Given the description of an element on the screen output the (x, y) to click on. 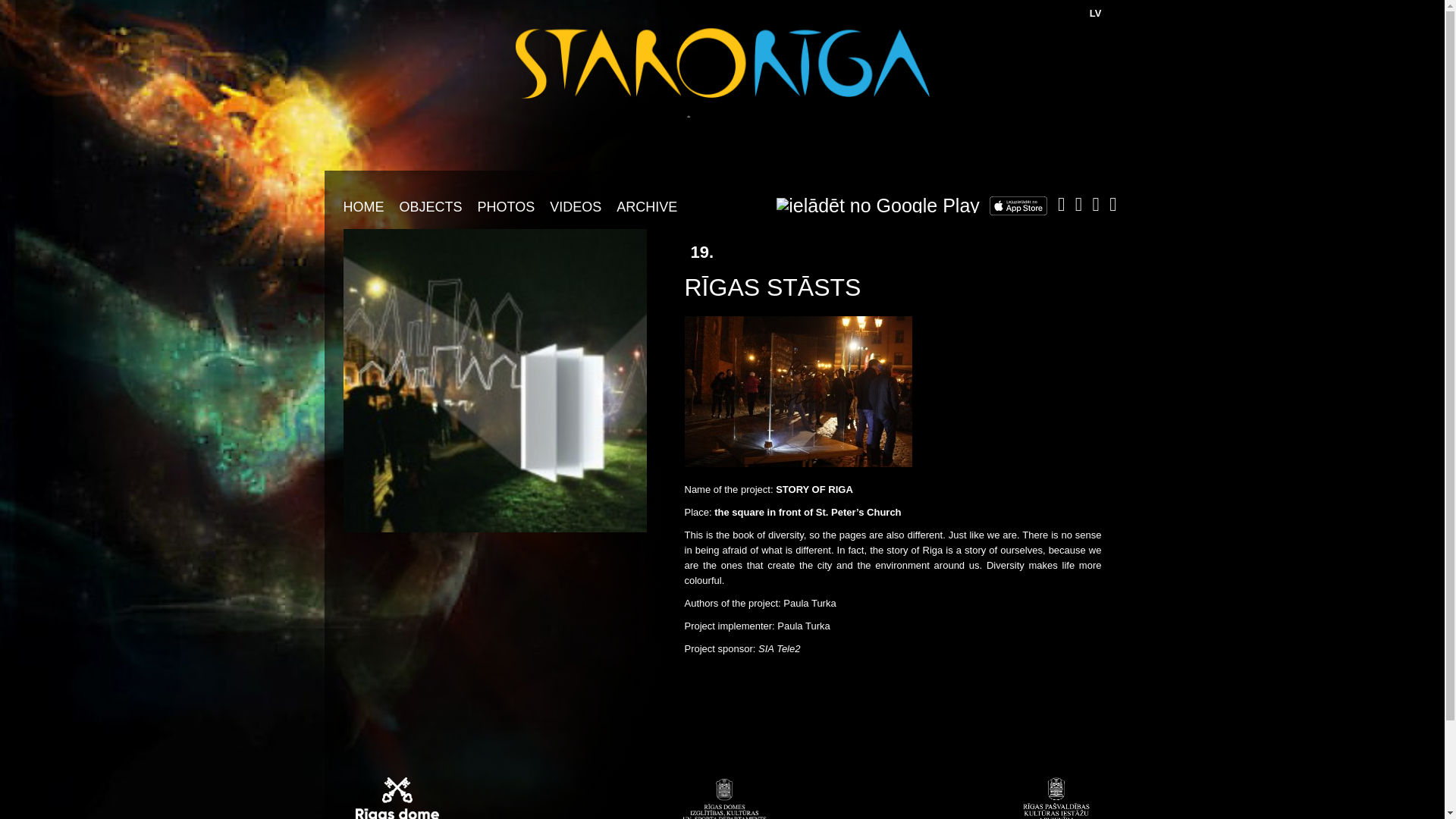
VIDEOS (575, 206)
HOME (363, 206)
PHOTOS (506, 206)
OBJECTS (429, 206)
LV (1095, 12)
ARCHIVE (646, 206)
